Given the description of an element on the screen output the (x, y) to click on. 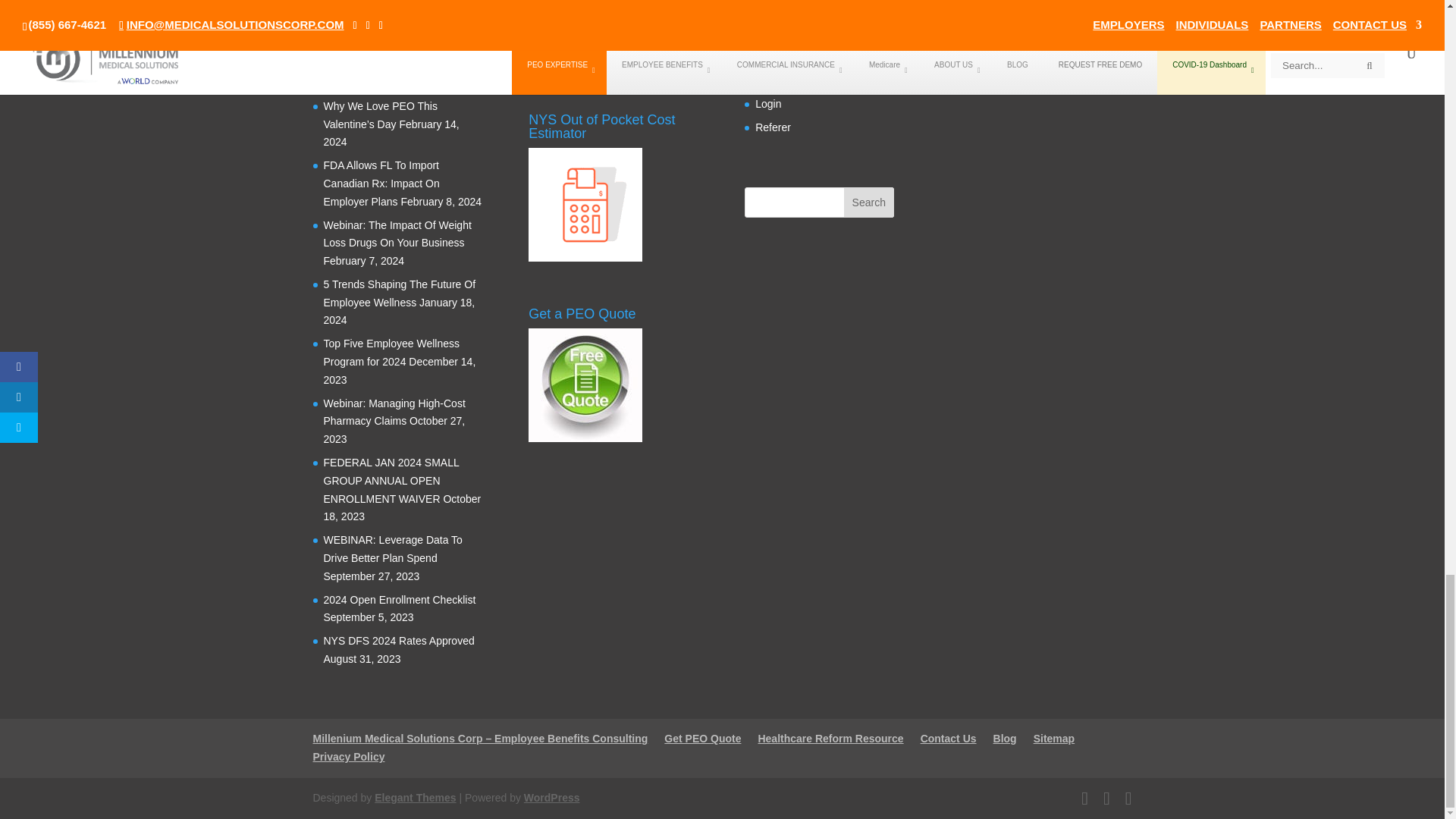
GO (892, 6)
Premium WordPress Themes (414, 797)
Search (868, 202)
HOME (480, 738)
